Given the description of an element on the screen output the (x, y) to click on. 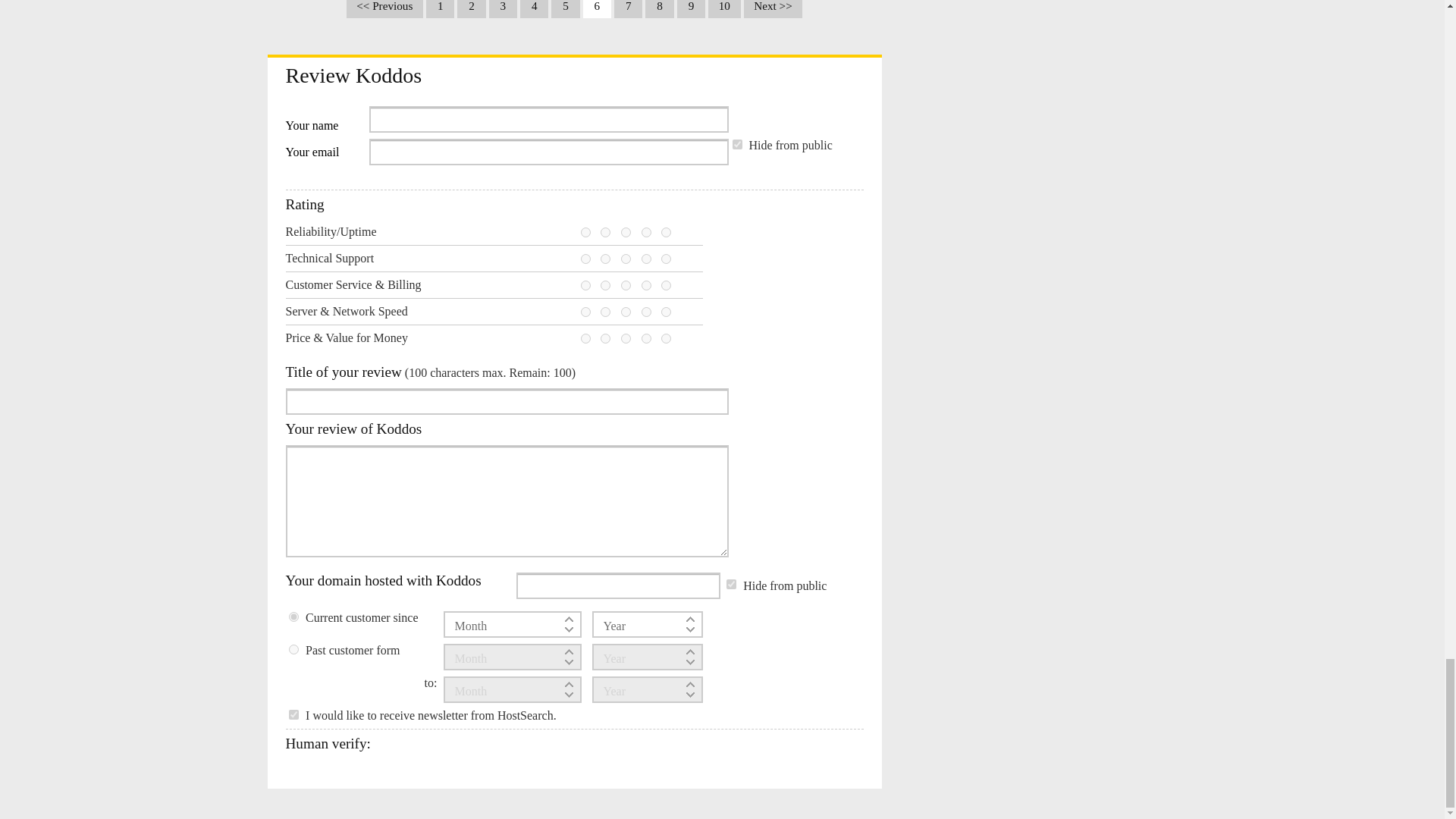
2 (604, 232)
Bad (604, 258)
Good (646, 285)
4 (646, 258)
Worst (585, 285)
1 (737, 144)
1 (585, 258)
OK (625, 285)
Best (666, 258)
Best (666, 285)
